Given the description of an element on the screen output the (x, y) to click on. 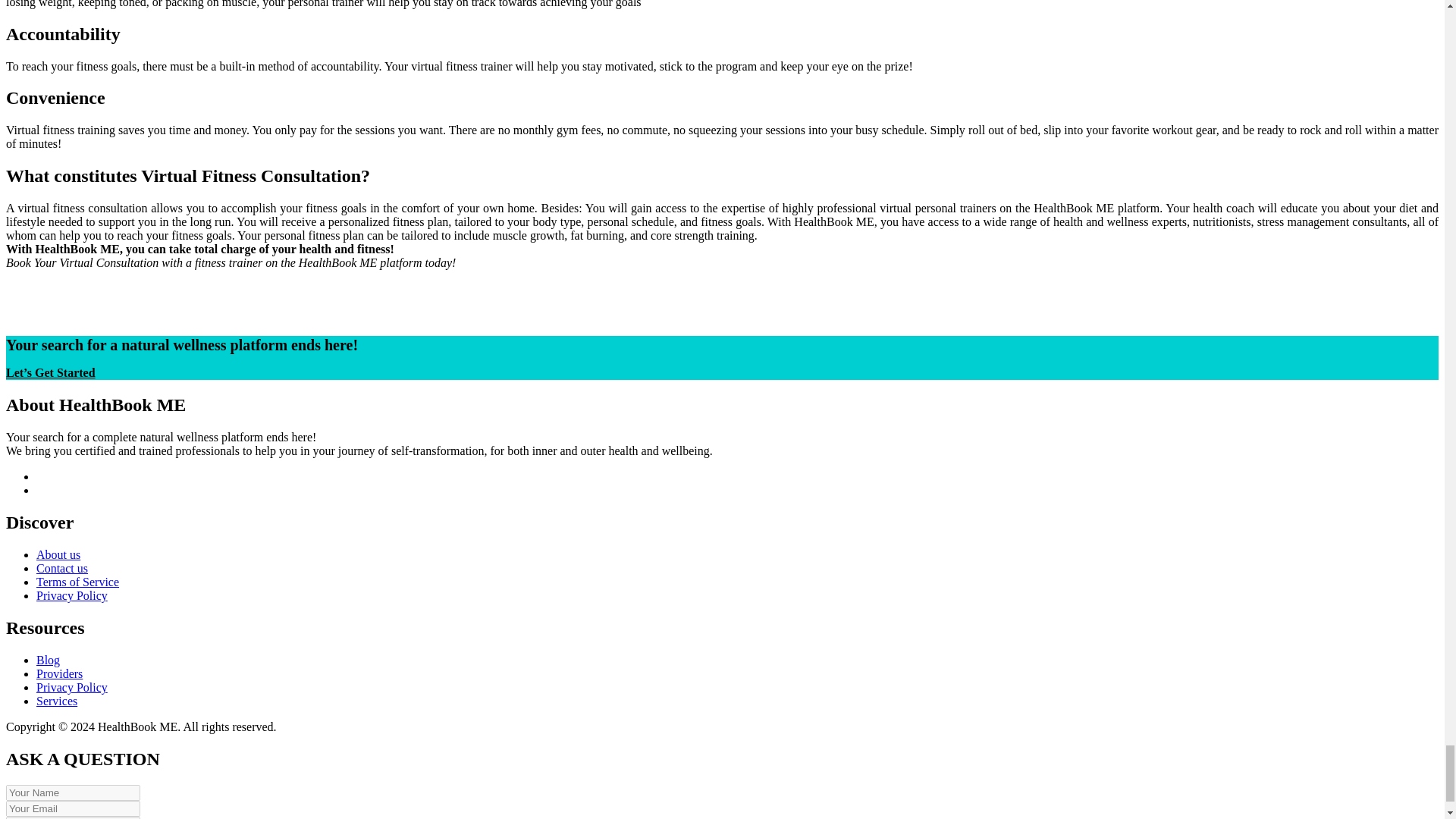
Contact us (61, 567)
About us (58, 554)
